Given the description of an element on the screen output the (x, y) to click on. 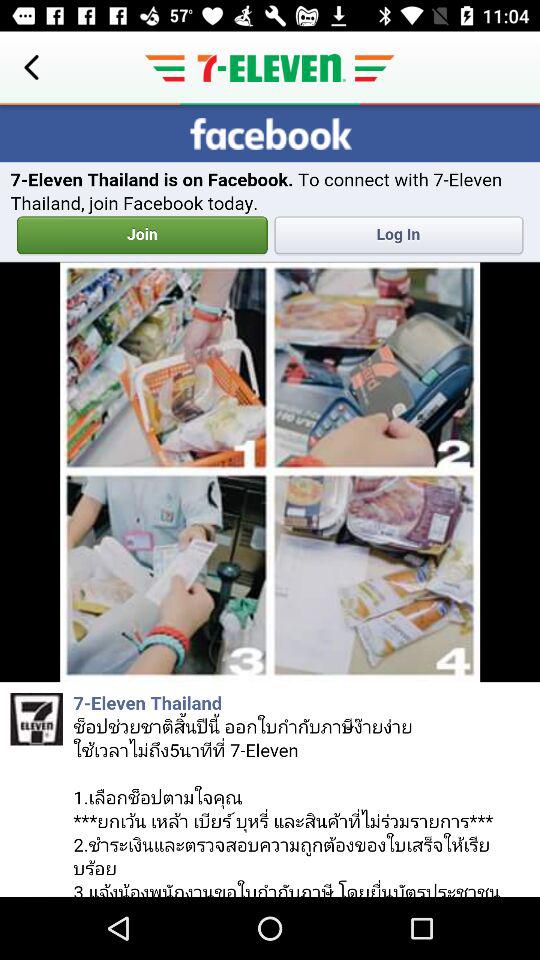
go to previous (31, 68)
